Given the description of an element on the screen output the (x, y) to click on. 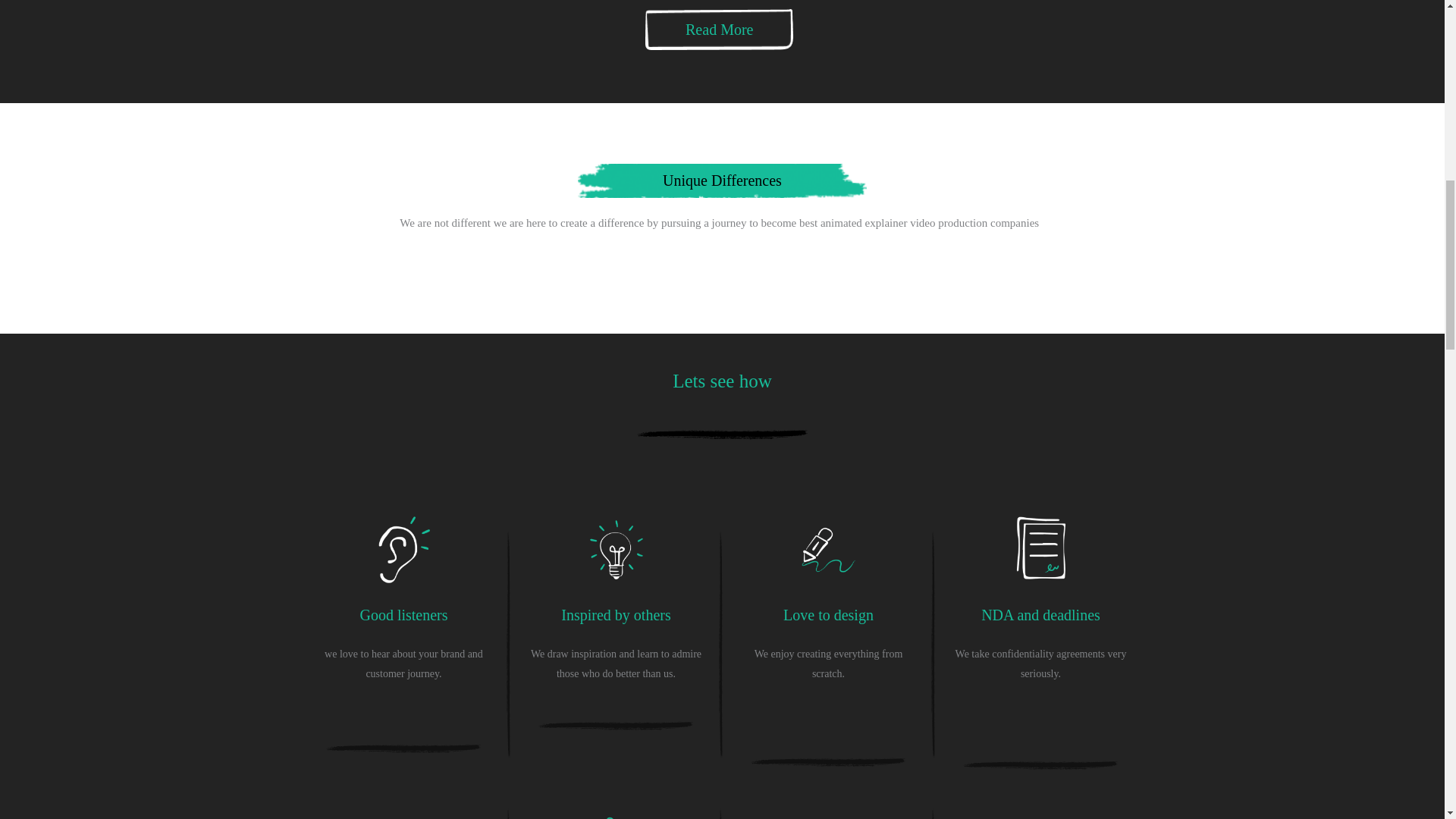
Unique Differences (721, 180)
Read More (719, 29)
